Given the description of an element on the screen output the (x, y) to click on. 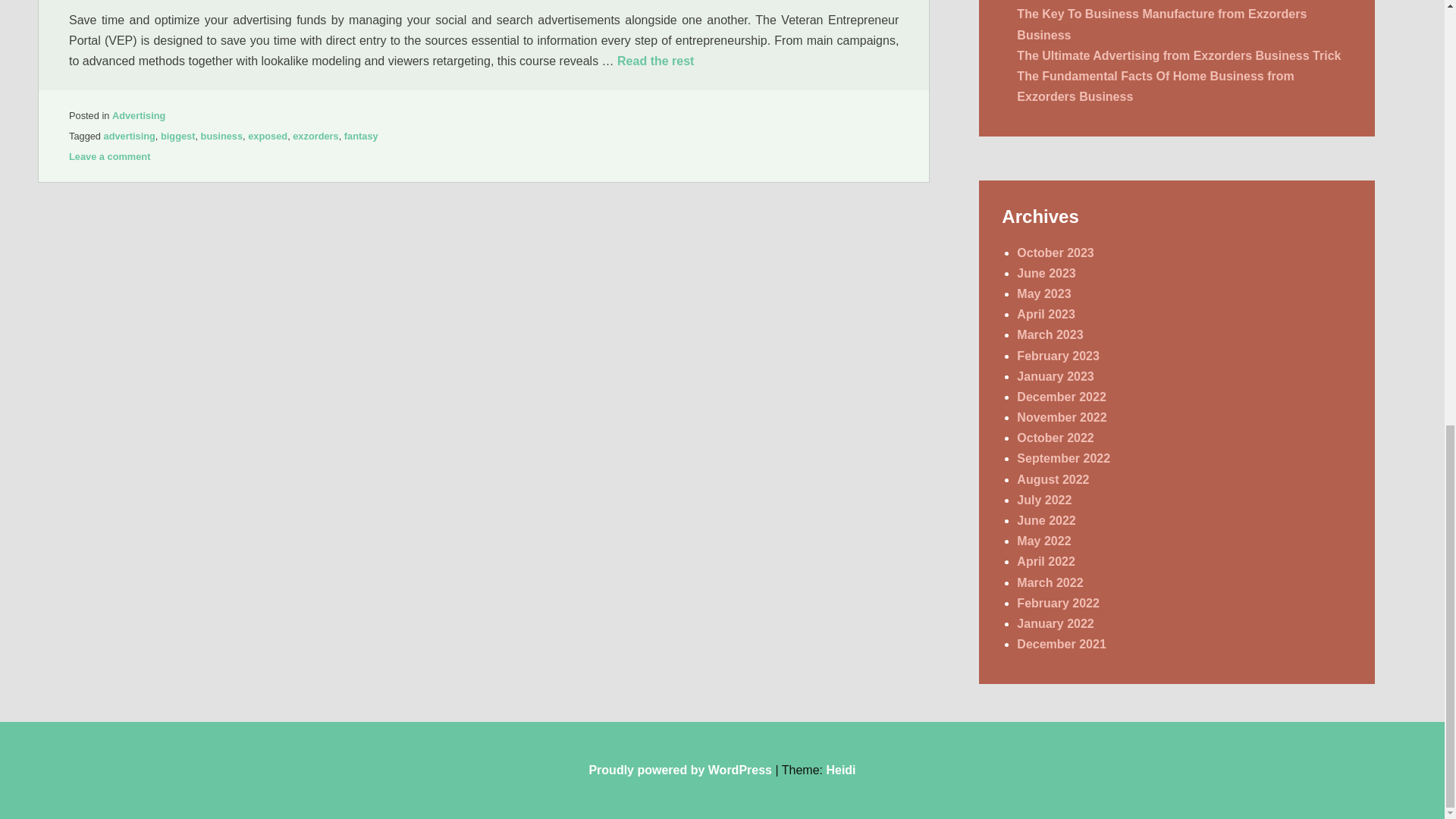
January 2023 (1054, 376)
biggest (177, 135)
June 2023 (1045, 273)
exposed (266, 135)
Read the rest (655, 60)
Leave a comment (108, 156)
March 2023 (1049, 334)
February 2023 (1057, 355)
October 2023 (1054, 252)
The Ultimate Advertising from Exzorders Business Trick (1178, 55)
fantasy (360, 135)
April 2023 (1045, 314)
The Key To Business Manufacture from Exzorders Business (1161, 23)
May 2023 (1043, 293)
